Given the description of an element on the screen output the (x, y) to click on. 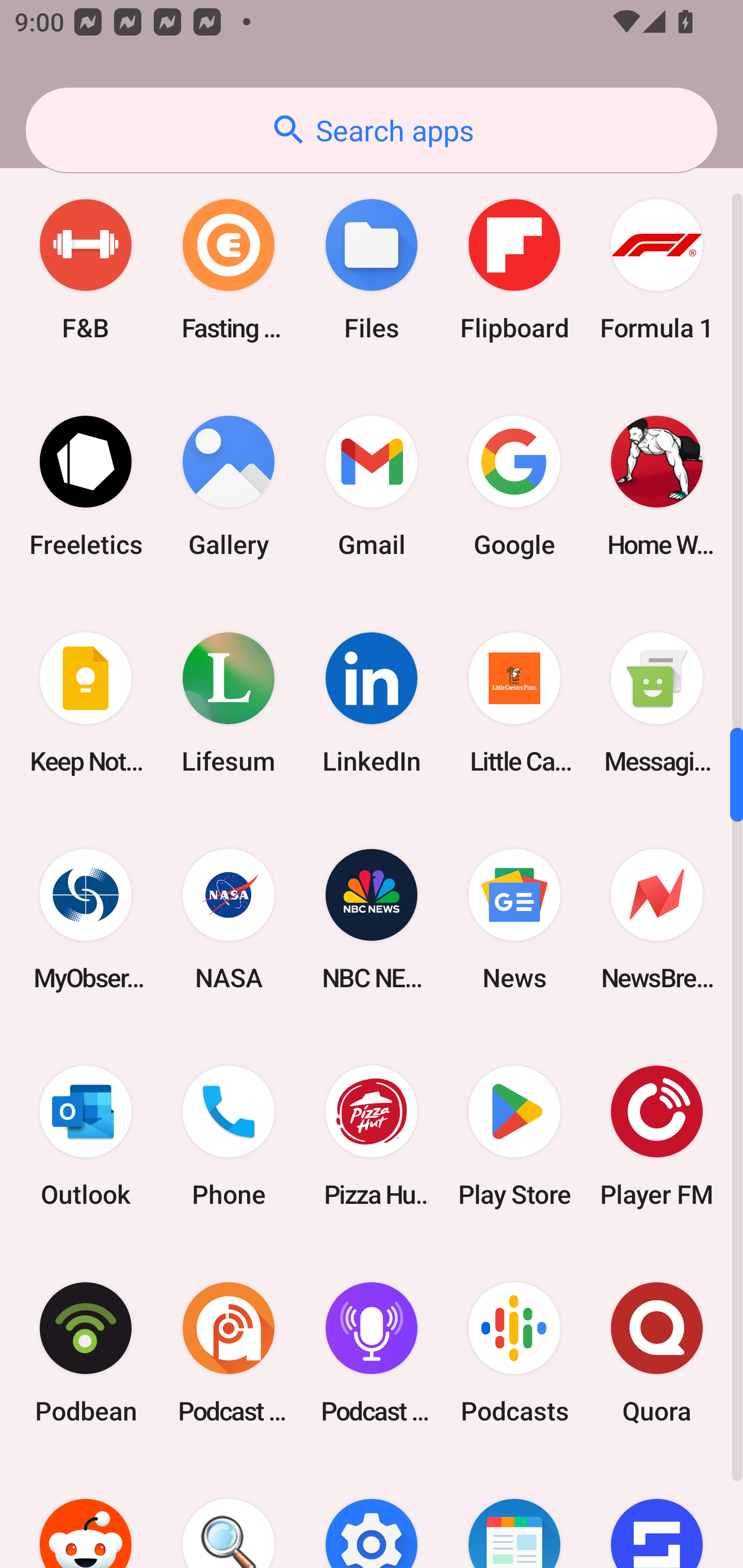
  Search apps (371, 130)
F&B (85, 269)
Fasting Coach (228, 269)
Files (371, 269)
Flipboard (514, 269)
Formula 1 (656, 269)
Freeletics (85, 485)
Gallery (228, 485)
Gmail (371, 485)
Google (514, 485)
Home Workout (656, 485)
Keep Notes (85, 702)
Lifesum (228, 702)
LinkedIn (371, 702)
Little Caesars Pizza (514, 702)
Messaging (656, 702)
MyObservatory (85, 919)
NASA (228, 919)
NBC NEWS (371, 919)
News (514, 919)
NewsBreak (656, 919)
Outlook (85, 1136)
Phone (228, 1136)
Pizza Hut HK & Macau (371, 1136)
Play Store (514, 1136)
Player FM (656, 1136)
Podbean (85, 1352)
Podcast Addict (228, 1352)
Podcast Player (371, 1352)
Podcasts (514, 1352)
Quora (656, 1352)
Reddit (85, 1514)
Search (228, 1514)
Settings (371, 1514)
SmartNews (514, 1514)
Sofascore (656, 1514)
